Given the description of an element on the screen output the (x, y) to click on. 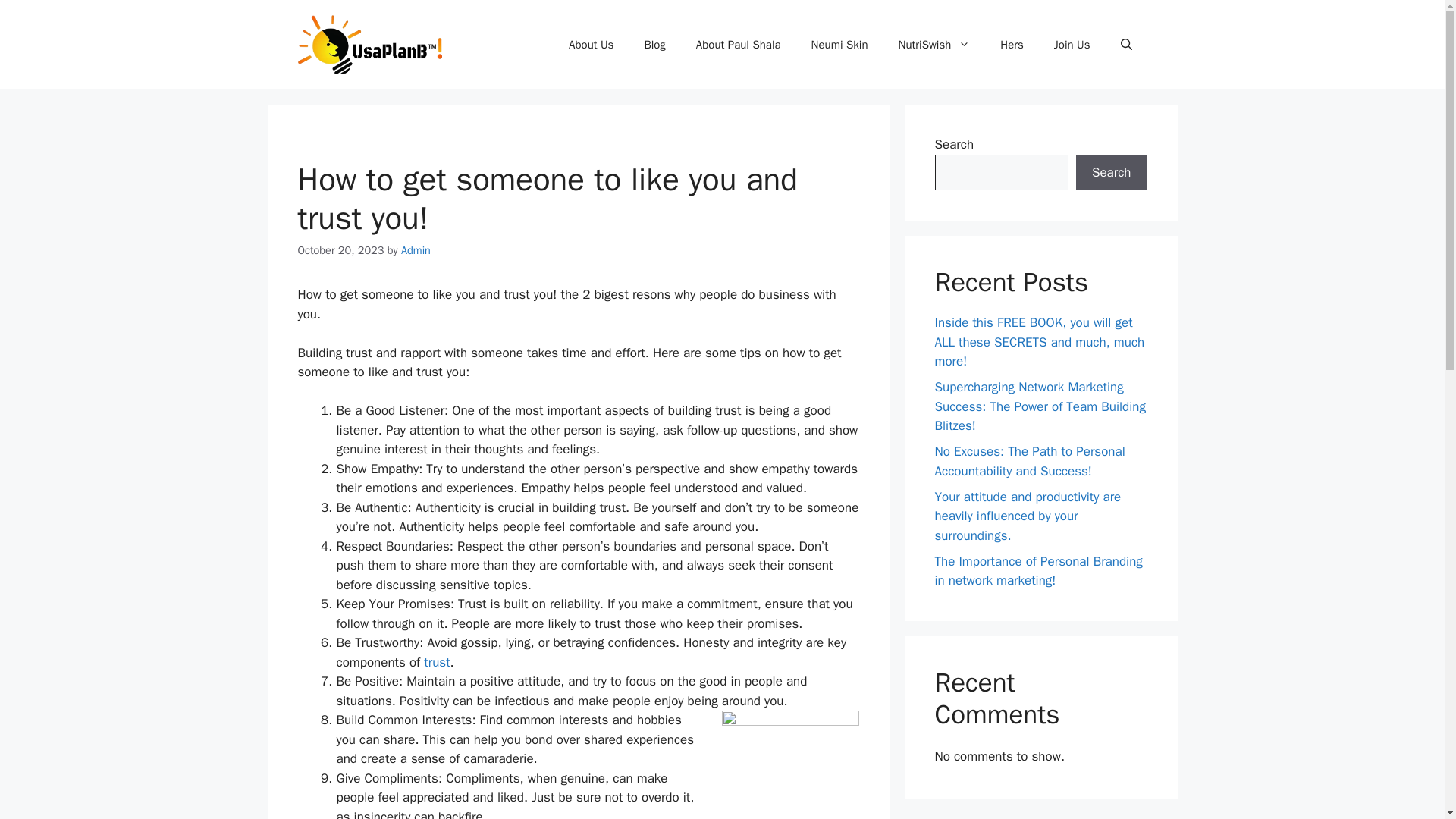
Neumi Skin (839, 44)
About Paul Shala (738, 44)
trust (436, 662)
Join Us (1072, 44)
No Excuses: The Path to Personal Accountability and Success! (1029, 461)
Blog (653, 44)
Search (1111, 172)
